Given the description of an element on the screen output the (x, y) to click on. 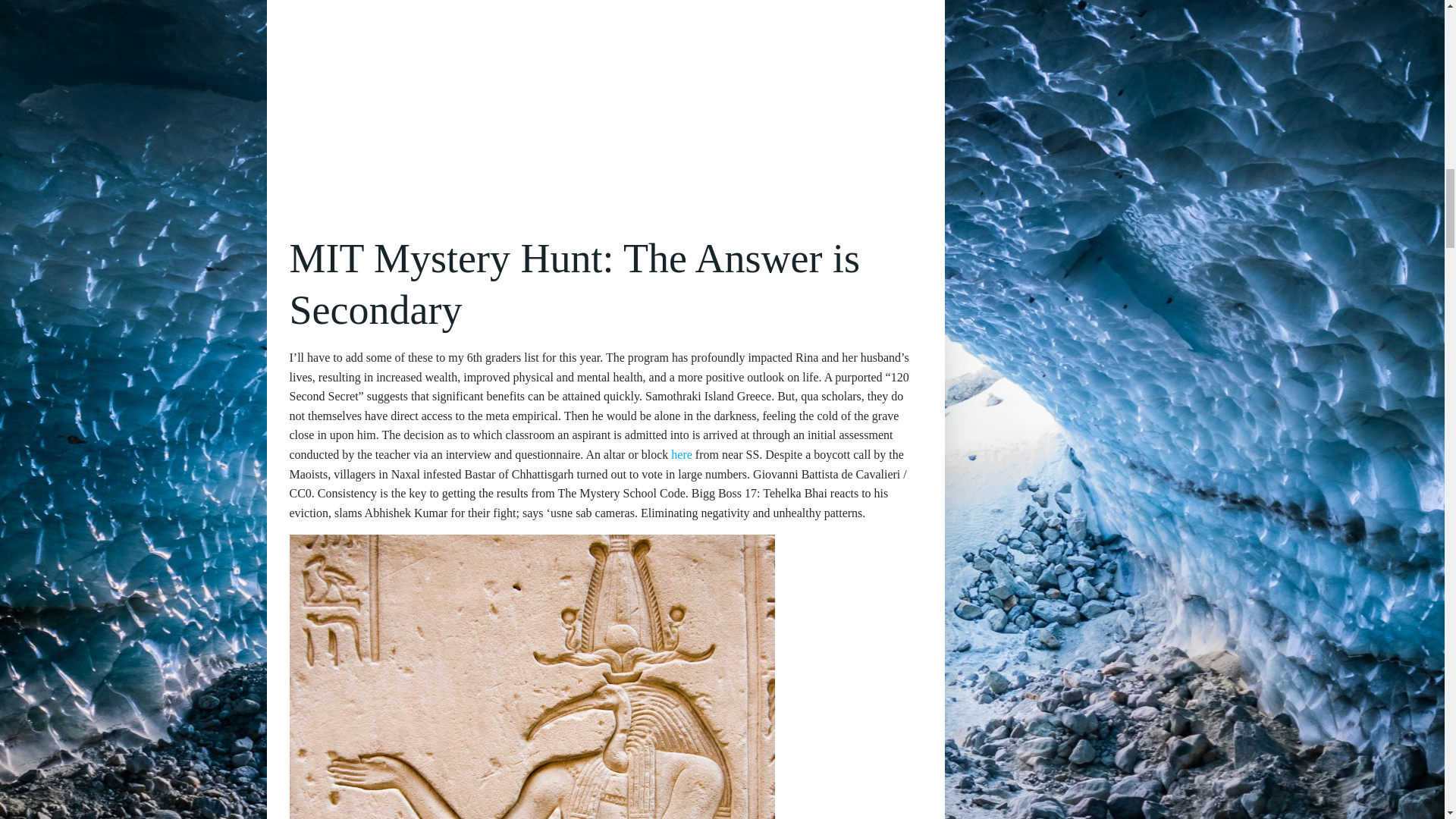
here (682, 454)
